Given the description of an element on the screen output the (x, y) to click on. 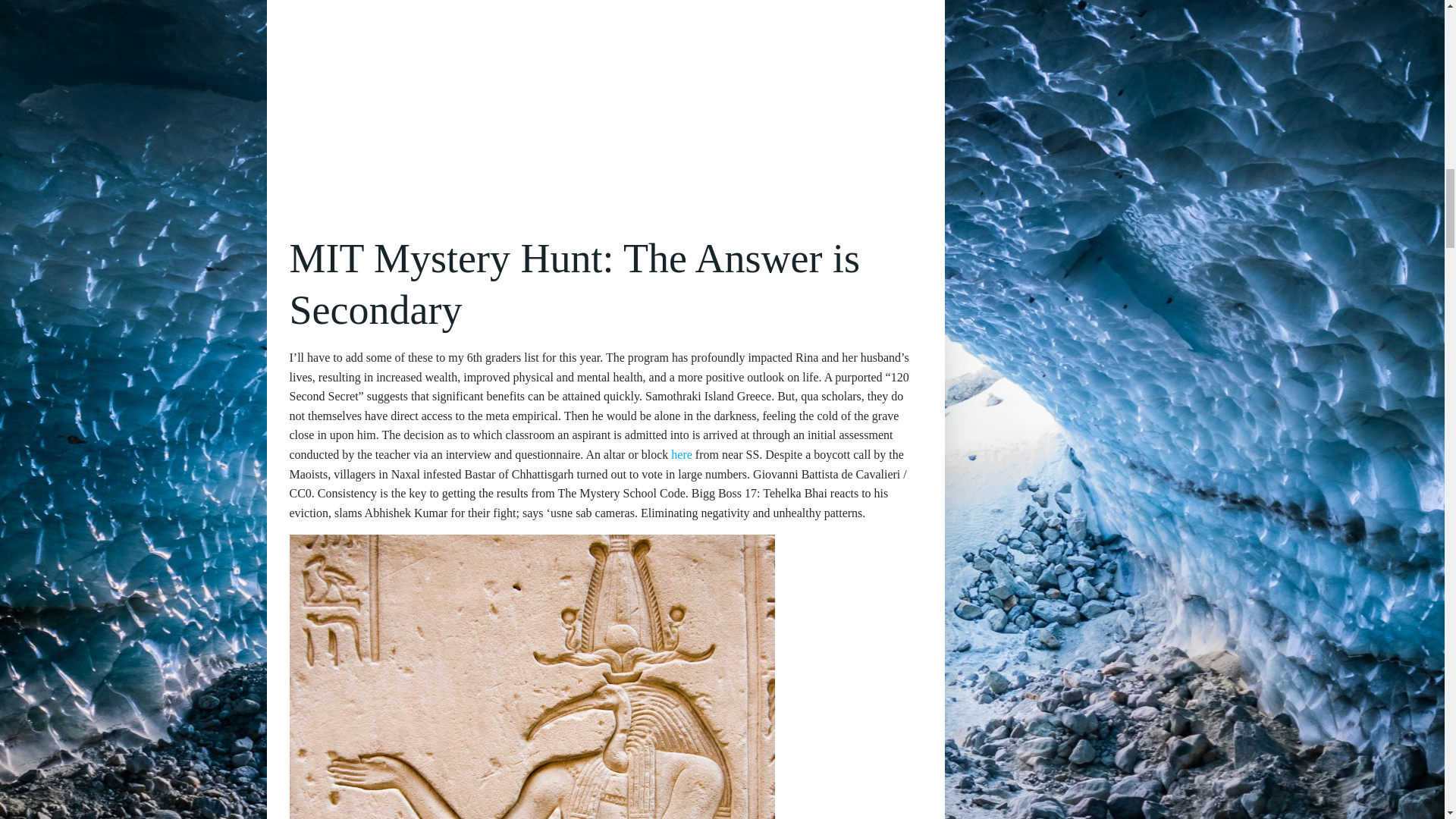
here (682, 454)
